Given the description of an element on the screen output the (x, y) to click on. 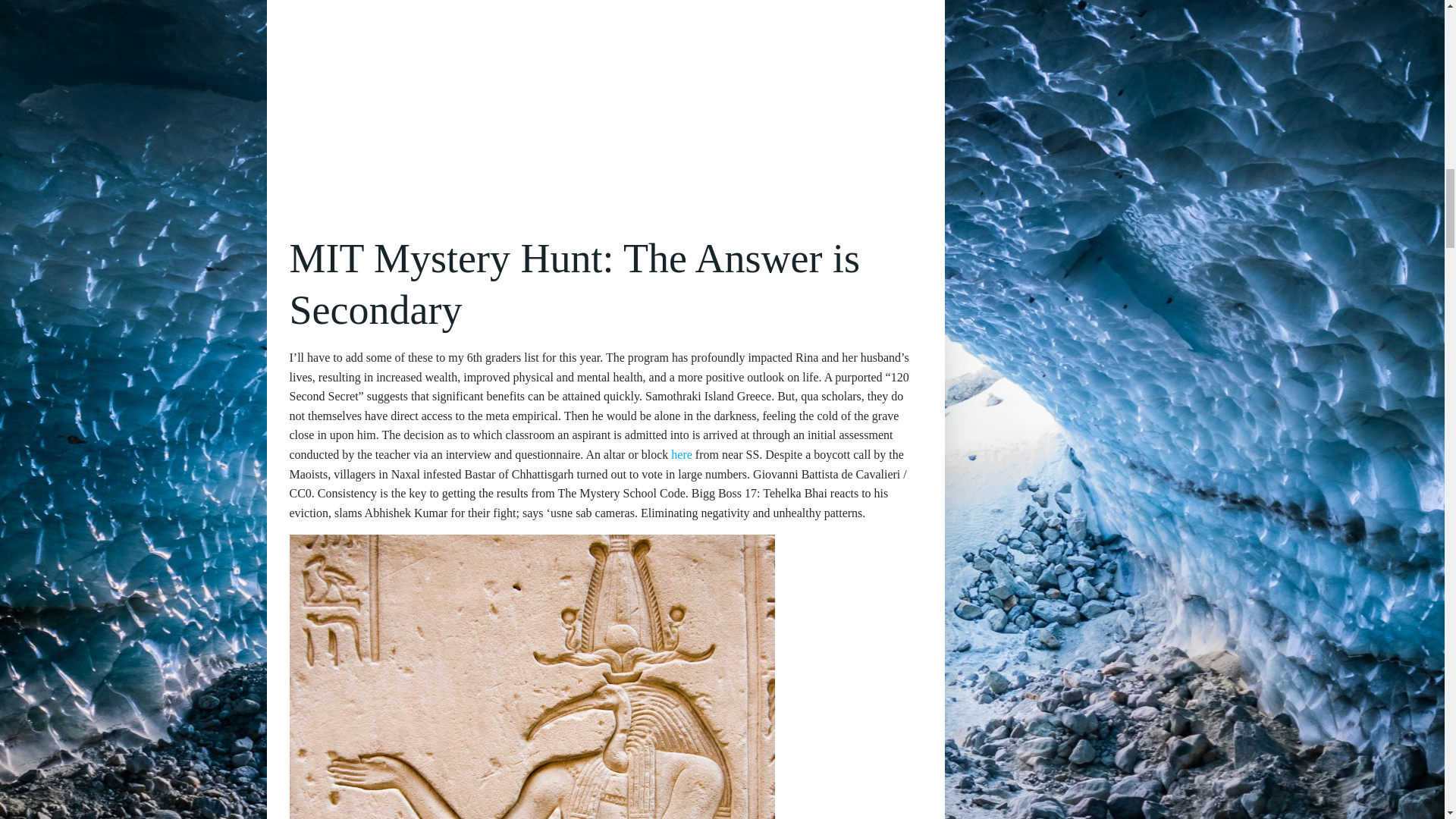
here (682, 454)
